Given the description of an element on the screen output the (x, y) to click on. 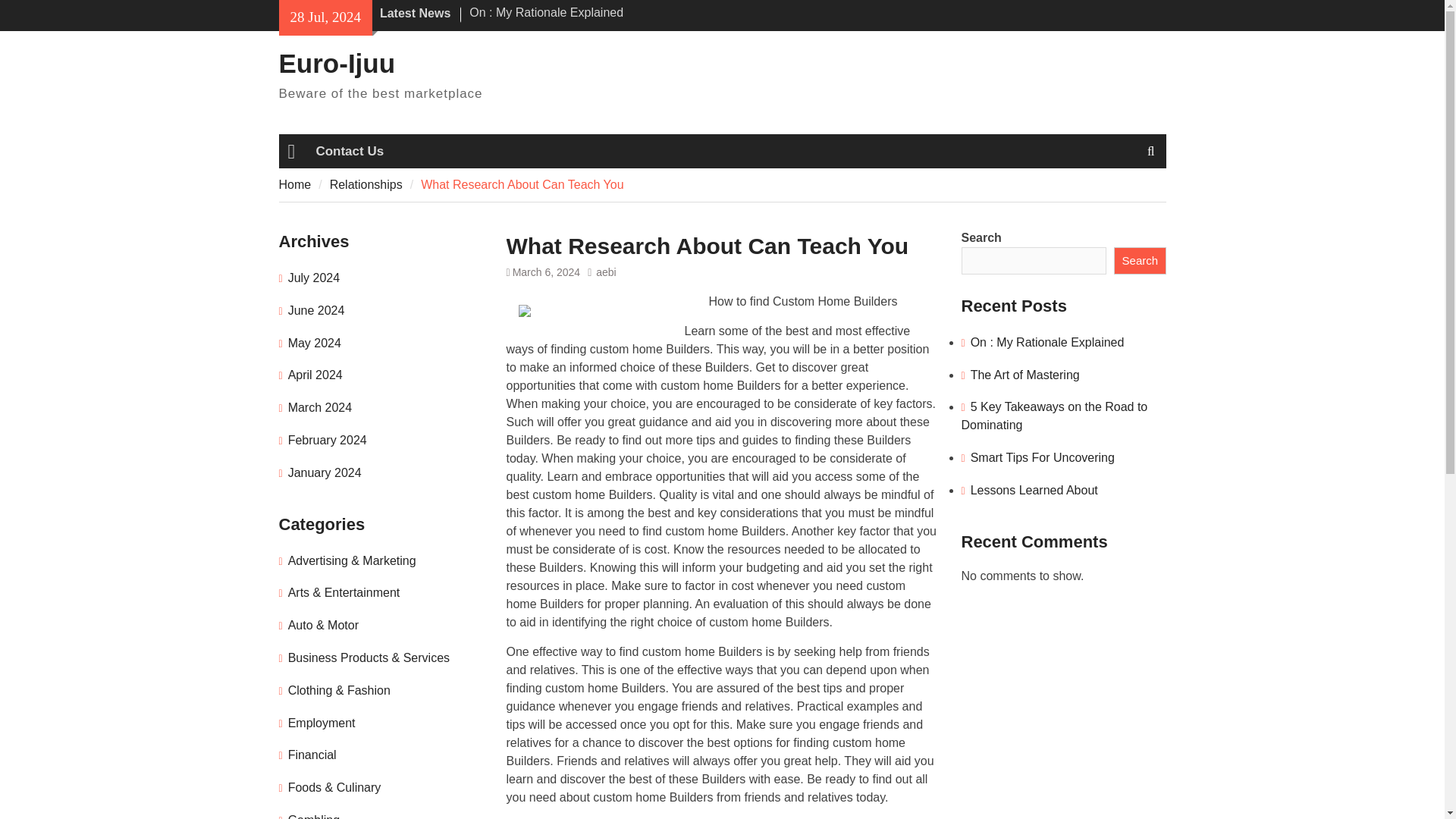
Euro-Ijuu (337, 62)
On : My Rationale Explained (545, 11)
The Art of Mastering (1025, 374)
June 2024 (316, 309)
Home (291, 150)
Relationships (366, 184)
March 2024 (320, 407)
May 2024 (314, 342)
Smart Tips For Uncovering (1043, 457)
Employment (321, 722)
April 2024 (315, 374)
aebi (605, 272)
Search (1139, 260)
Lessons Learned About (1034, 490)
March 6, 2024 (546, 272)
